Given the description of an element on the screen output the (x, y) to click on. 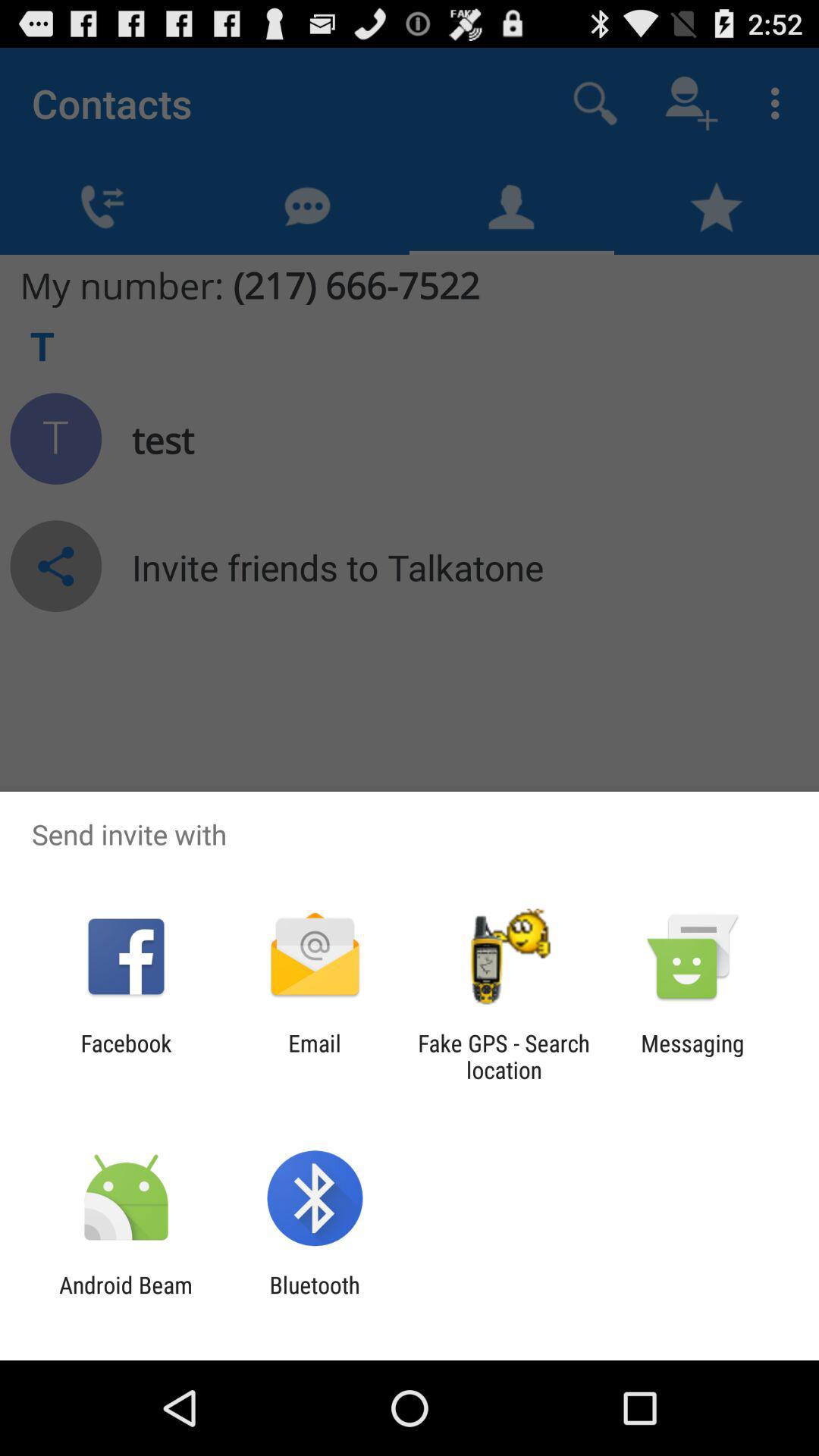
select the facebook item (125, 1056)
